Given the description of an element on the screen output the (x, y) to click on. 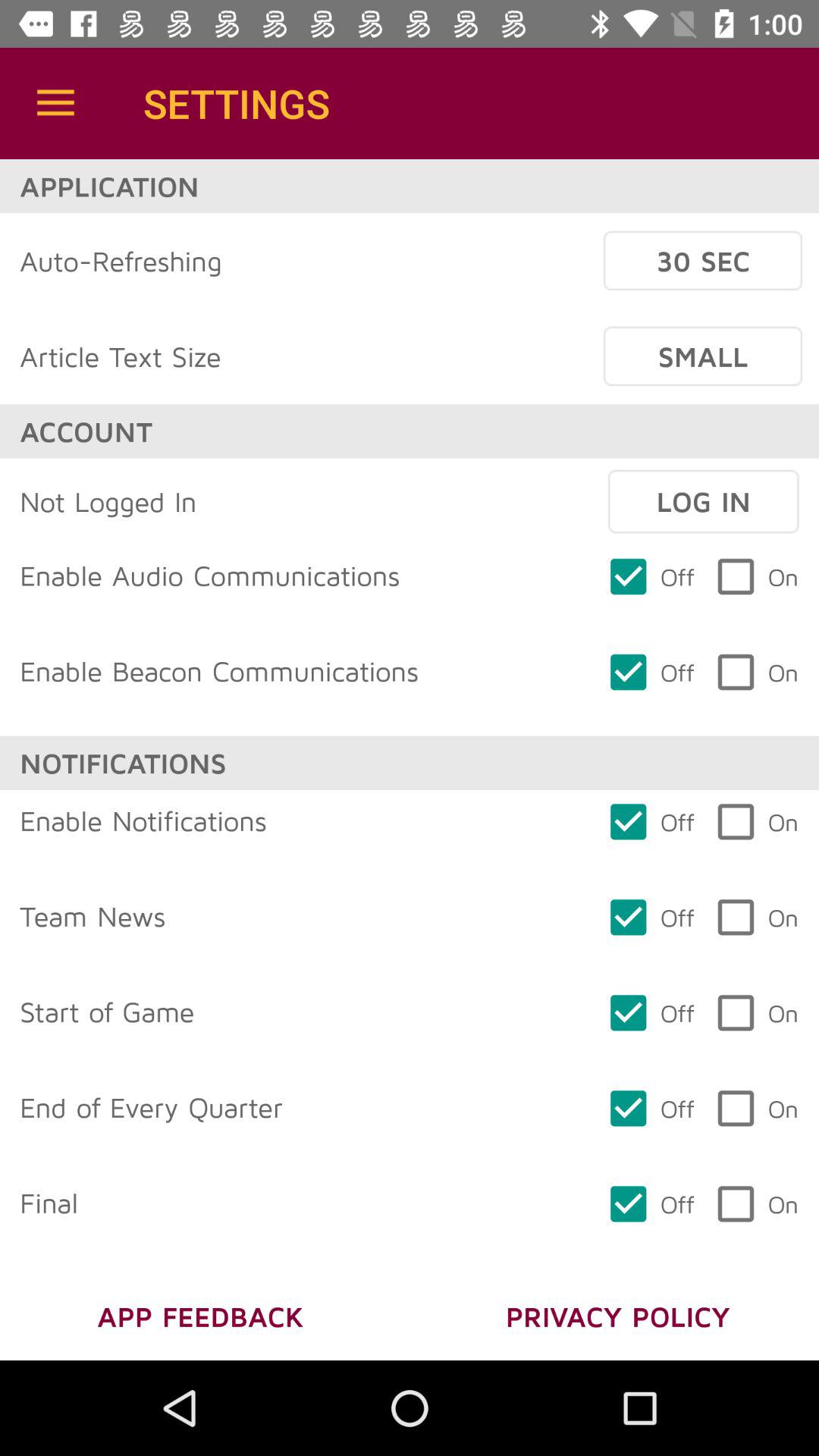
click the item to the left of settings item (55, 103)
